Given the description of an element on the screen output the (x, y) to click on. 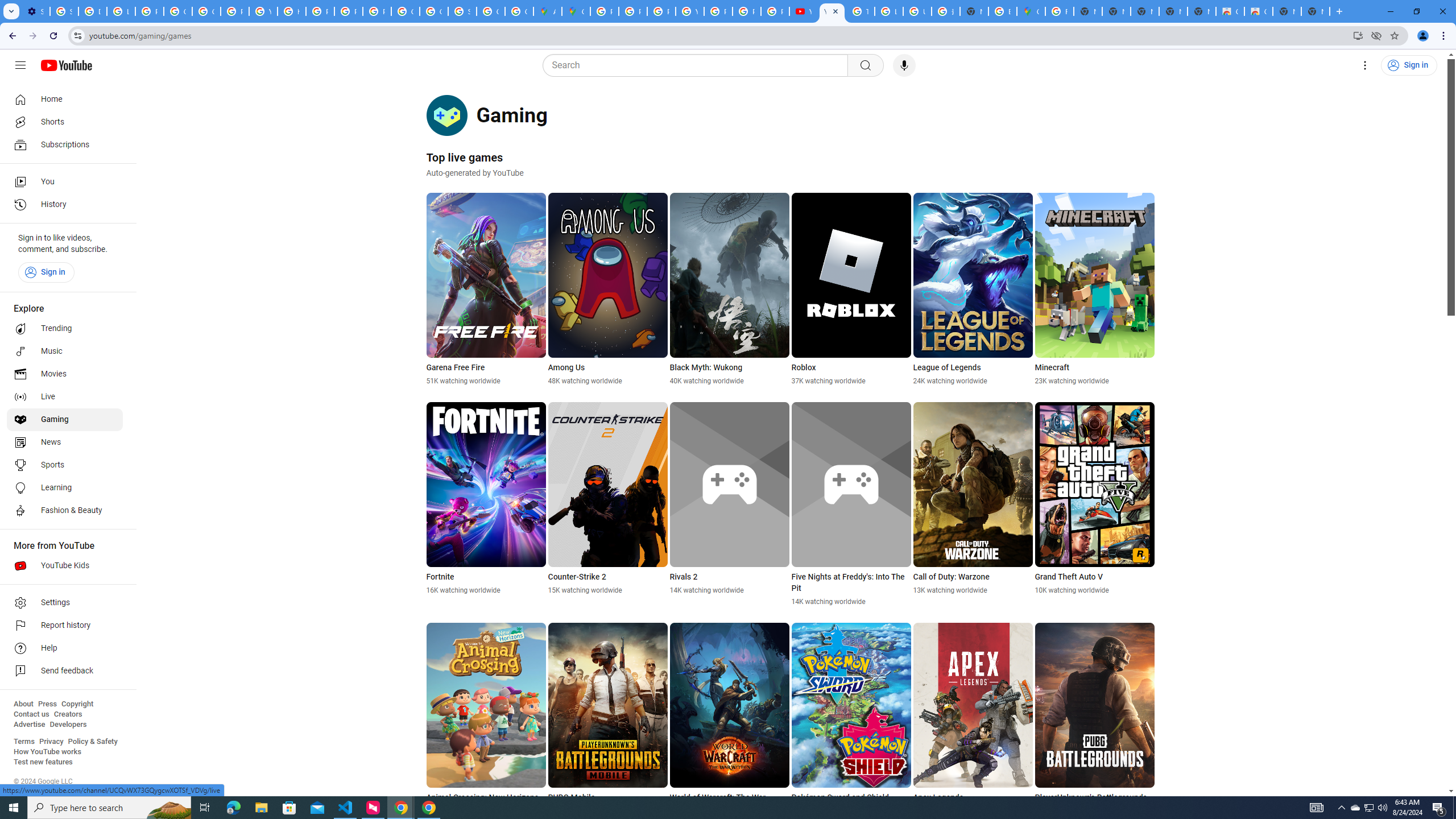
Animal Crossing: New Horizons 8.7K watching worldwide (486, 719)
Test new features (42, 761)
Google Maps (1030, 11)
Send feedback (64, 671)
Learning (64, 487)
Policy Accountability and Transparency - Transparency Center (604, 11)
Tips & tricks for Chrome - Google Chrome Help (860, 11)
Delete photos & videos - Computer - Google Photos Help (92, 11)
Fortnite 16K watching worldwide (486, 498)
